Given the description of an element on the screen output the (x, y) to click on. 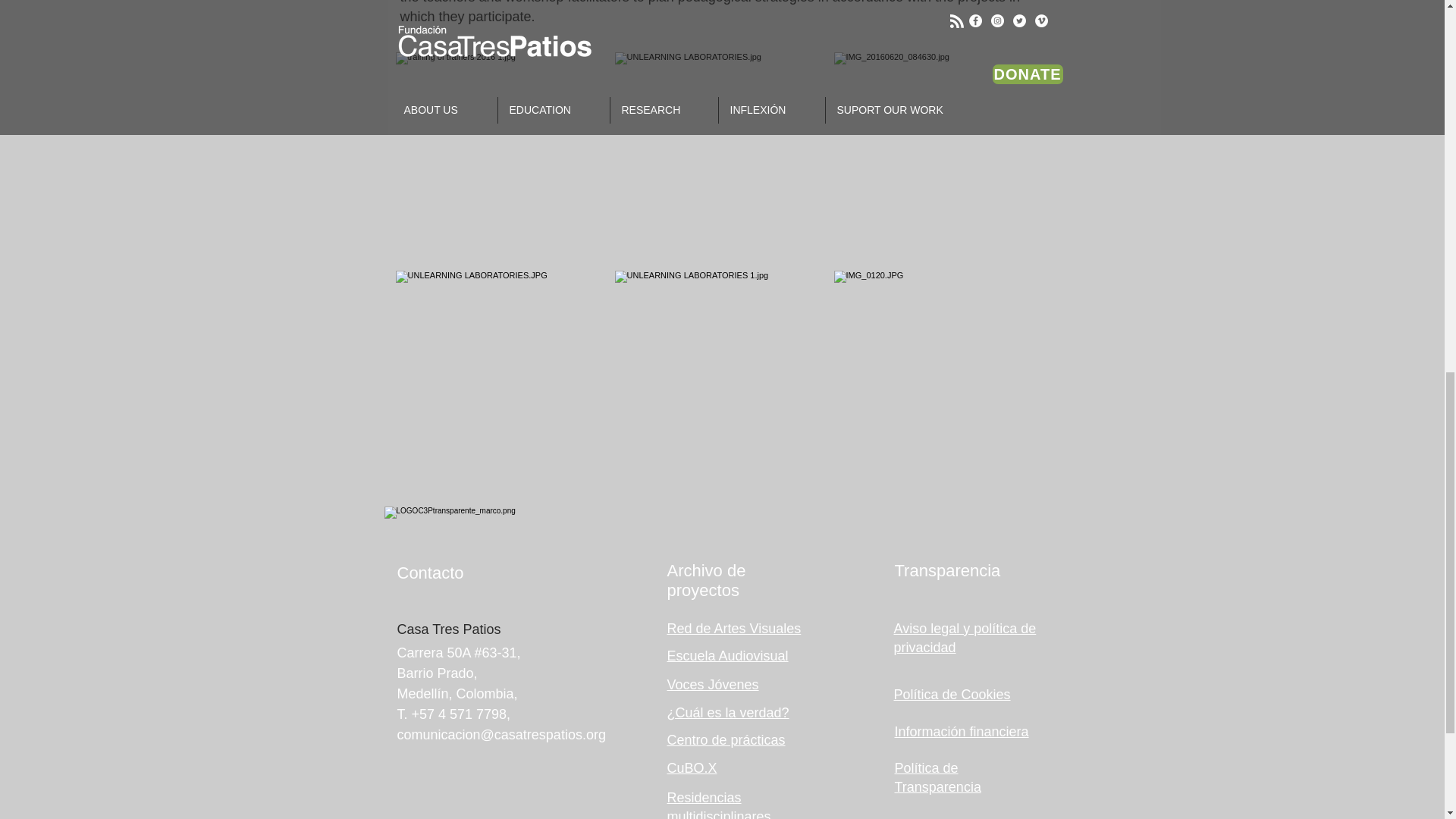
Residencias multidisciplinares (718, 804)
CuBO.X (691, 767)
Red de Artes Visuales (734, 628)
Escuela Audiovisual (727, 655)
C3P blanco.png (488, 534)
